Given the description of an element on the screen output the (x, y) to click on. 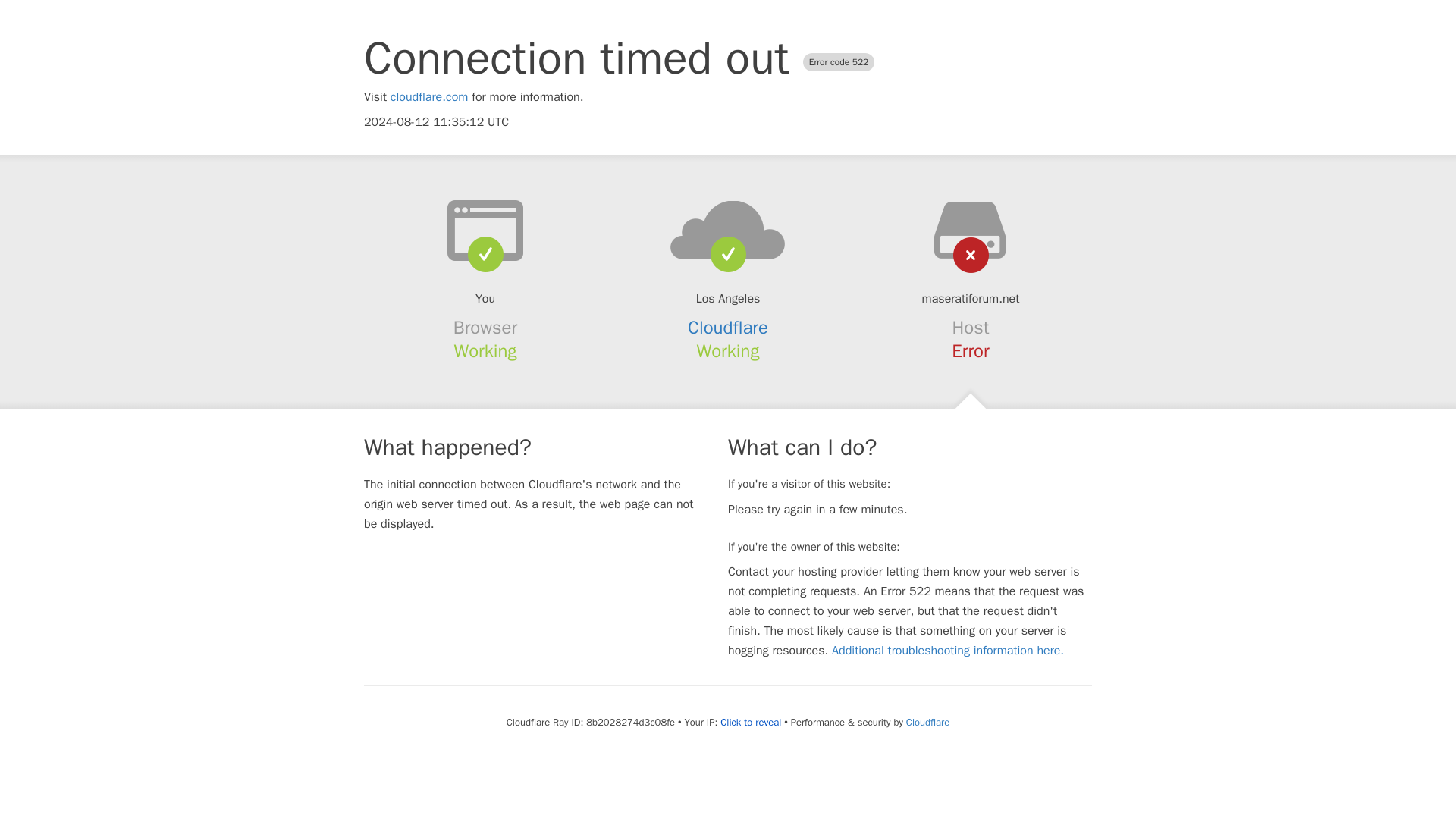
Cloudflare (727, 327)
Additional troubleshooting information here. (947, 650)
Click to reveal (750, 722)
cloudflare.com (429, 96)
Cloudflare (927, 721)
